Given the description of an element on the screen output the (x, y) to click on. 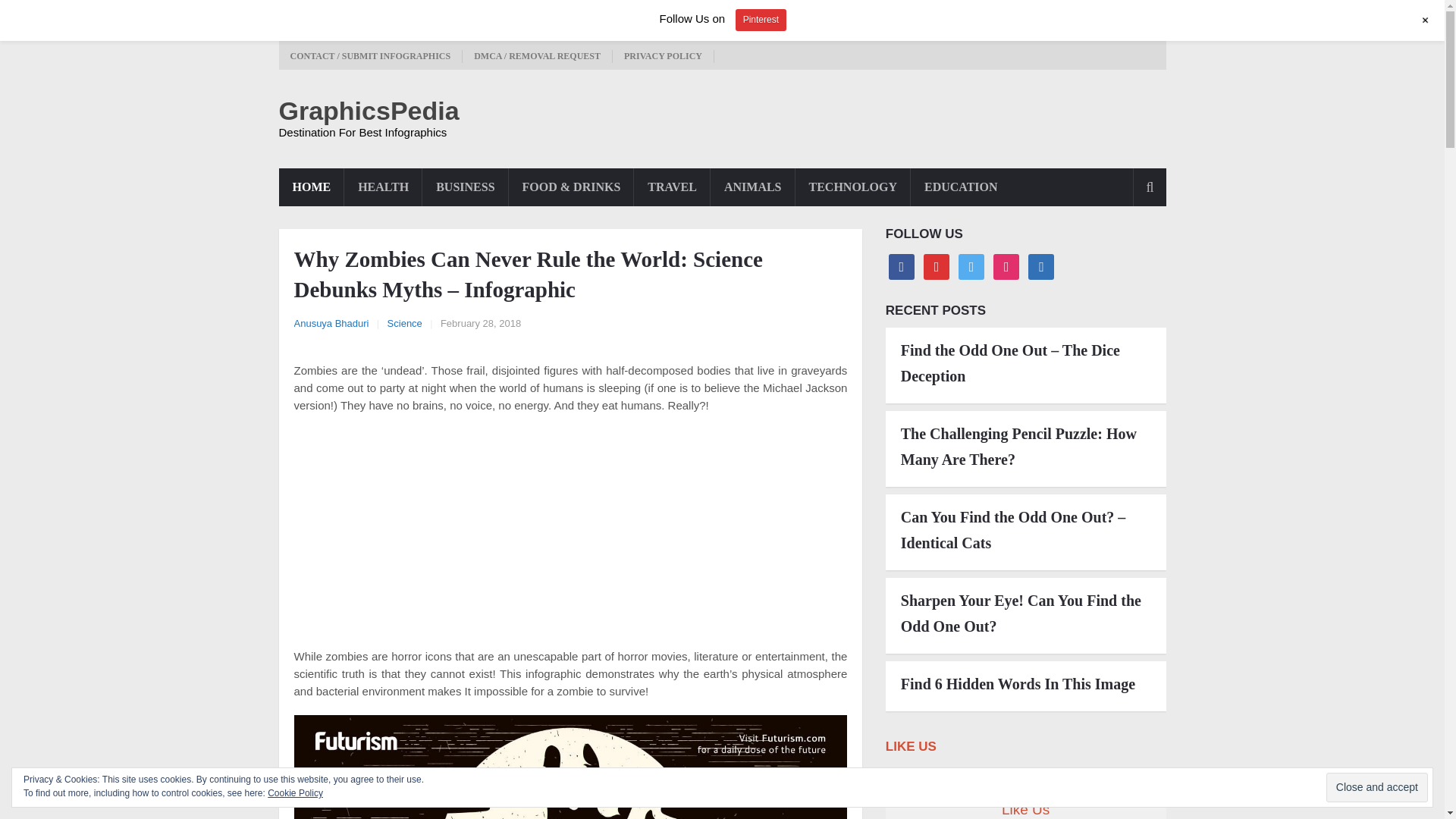
Sharpen Your Eye! Can You Find the Odd One Out? (1026, 613)
Follow (936, 265)
twitter (971, 265)
TECHNOLOGY (852, 187)
EDUCATION (960, 187)
linkedin (1040, 265)
Like (901, 265)
Science (404, 323)
Close and accept (1377, 787)
BUSINESS (465, 187)
Follow (971, 265)
Advertisement (570, 535)
HEALTH (382, 187)
LIKE US (910, 746)
ANIMALS (752, 187)
